Given the description of an element on the screen output the (x, y) to click on. 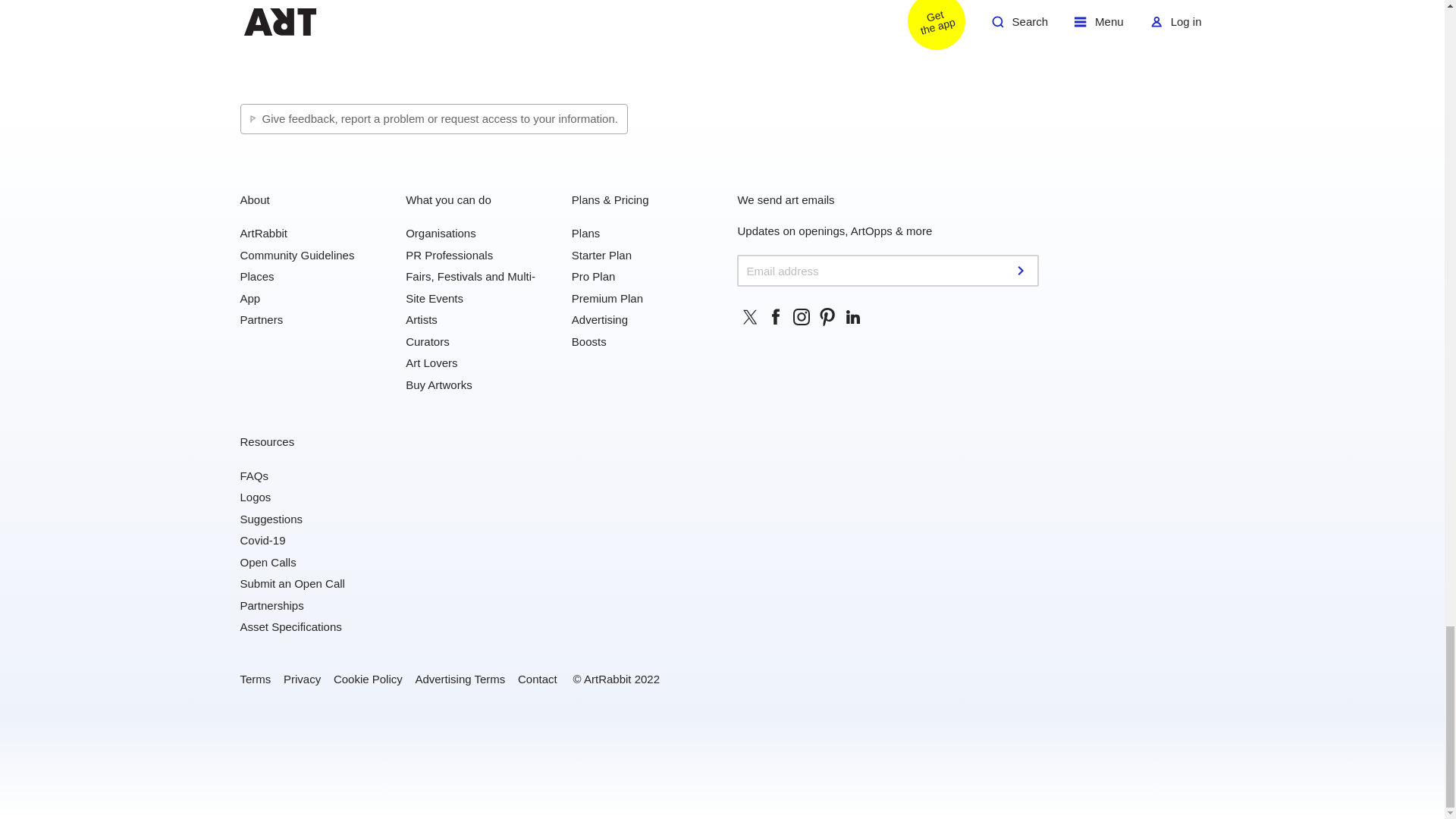
submit (1021, 270)
